Given the description of an element on the screen output the (x, y) to click on. 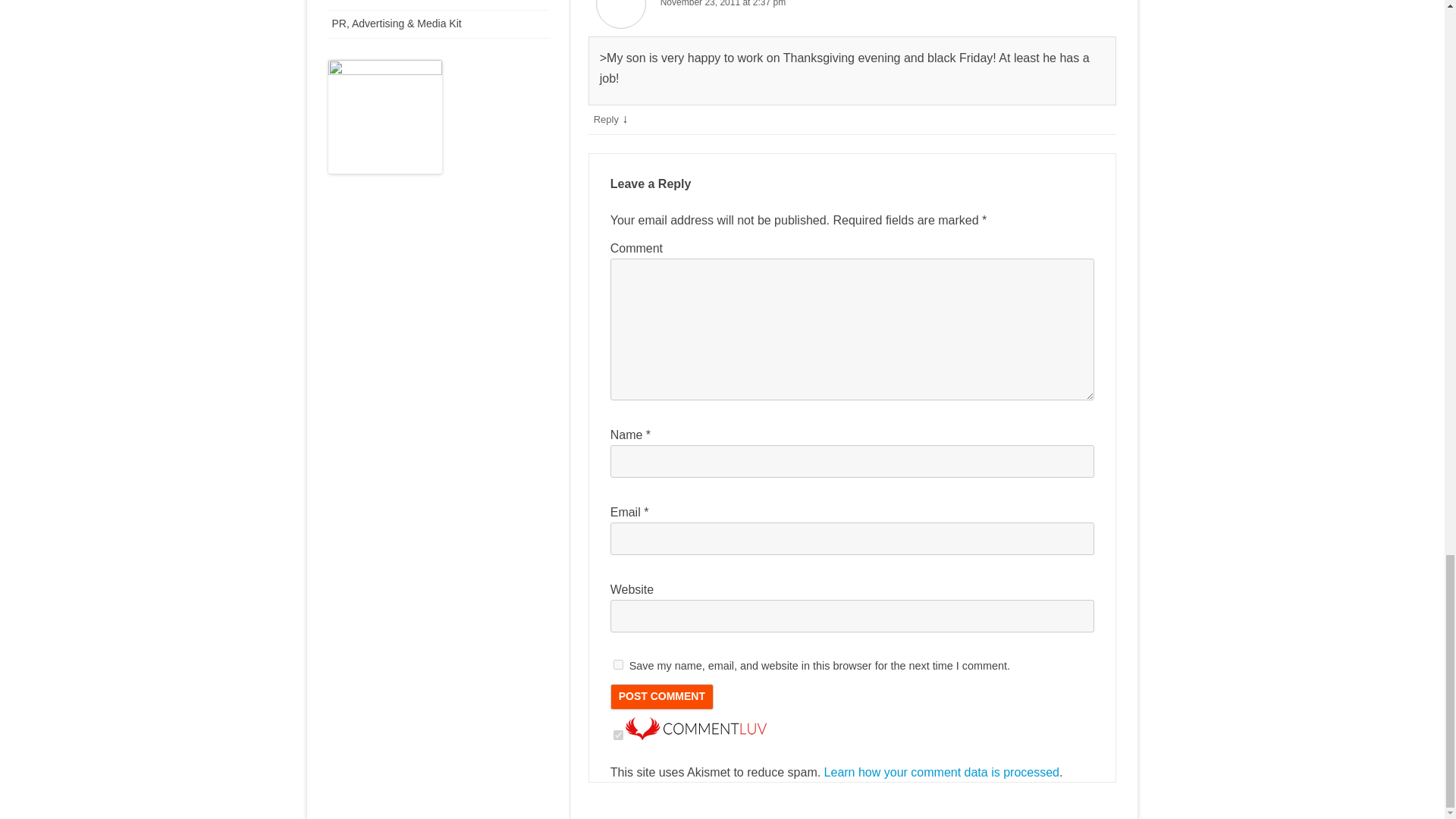
yes (617, 664)
CommentLuv is enabled (696, 735)
on (617, 735)
Post Comment (661, 696)
